Given the description of an element on the screen output the (x, y) to click on. 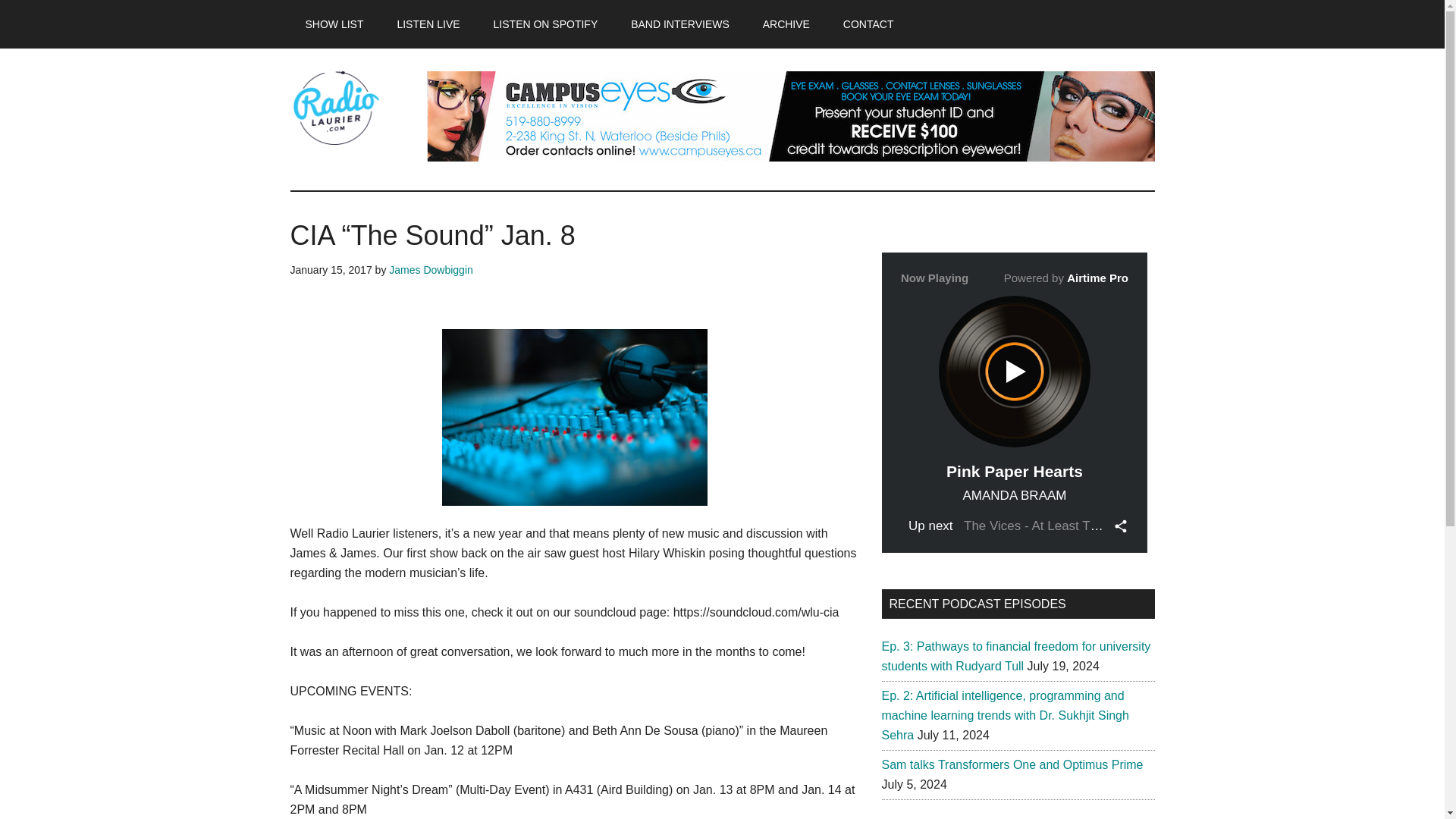
SHOW LIST (333, 24)
LISTEN LIVE (427, 24)
BAND INTERVIEWS (679, 24)
LISTEN ON SPOTIFY (545, 24)
ARCHIVE (786, 24)
